Given the description of an element on the screen output the (x, y) to click on. 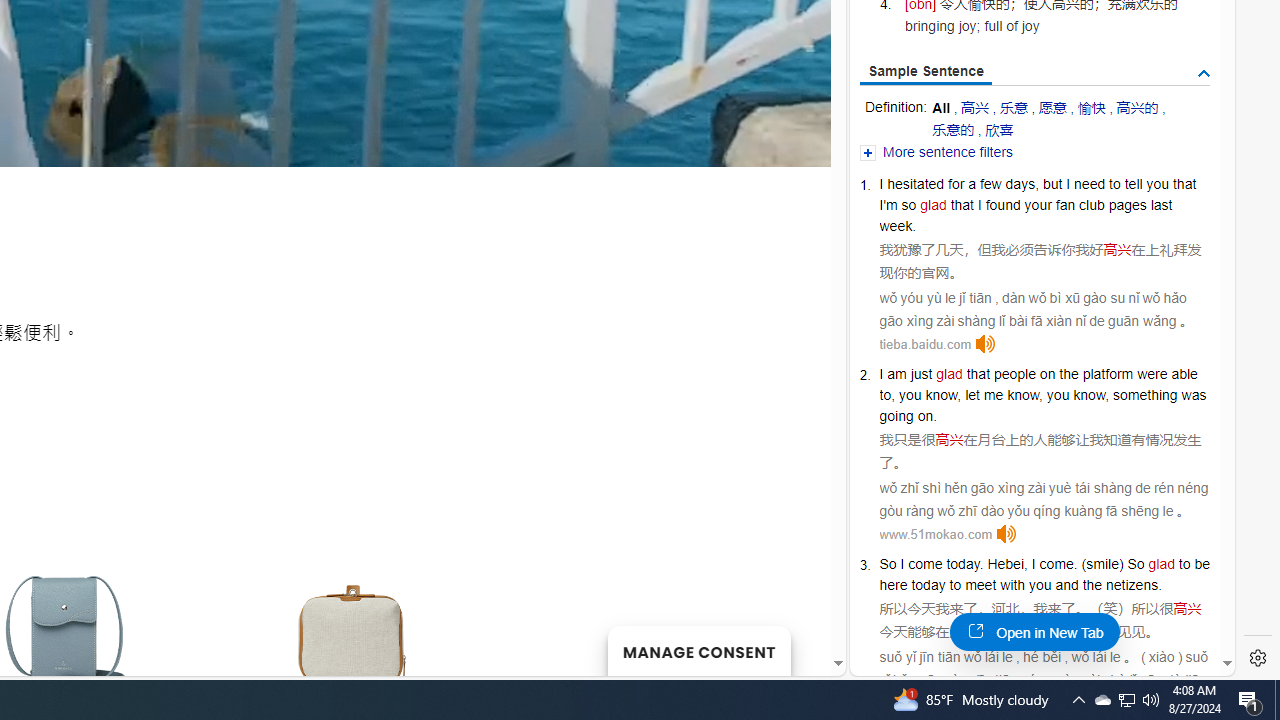
meet (981, 584)
) (1120, 563)
let (972, 395)
. (981, 563)
Hebei (1005, 563)
hesitated (915, 183)
